Given the description of an element on the screen output the (x, y) to click on. 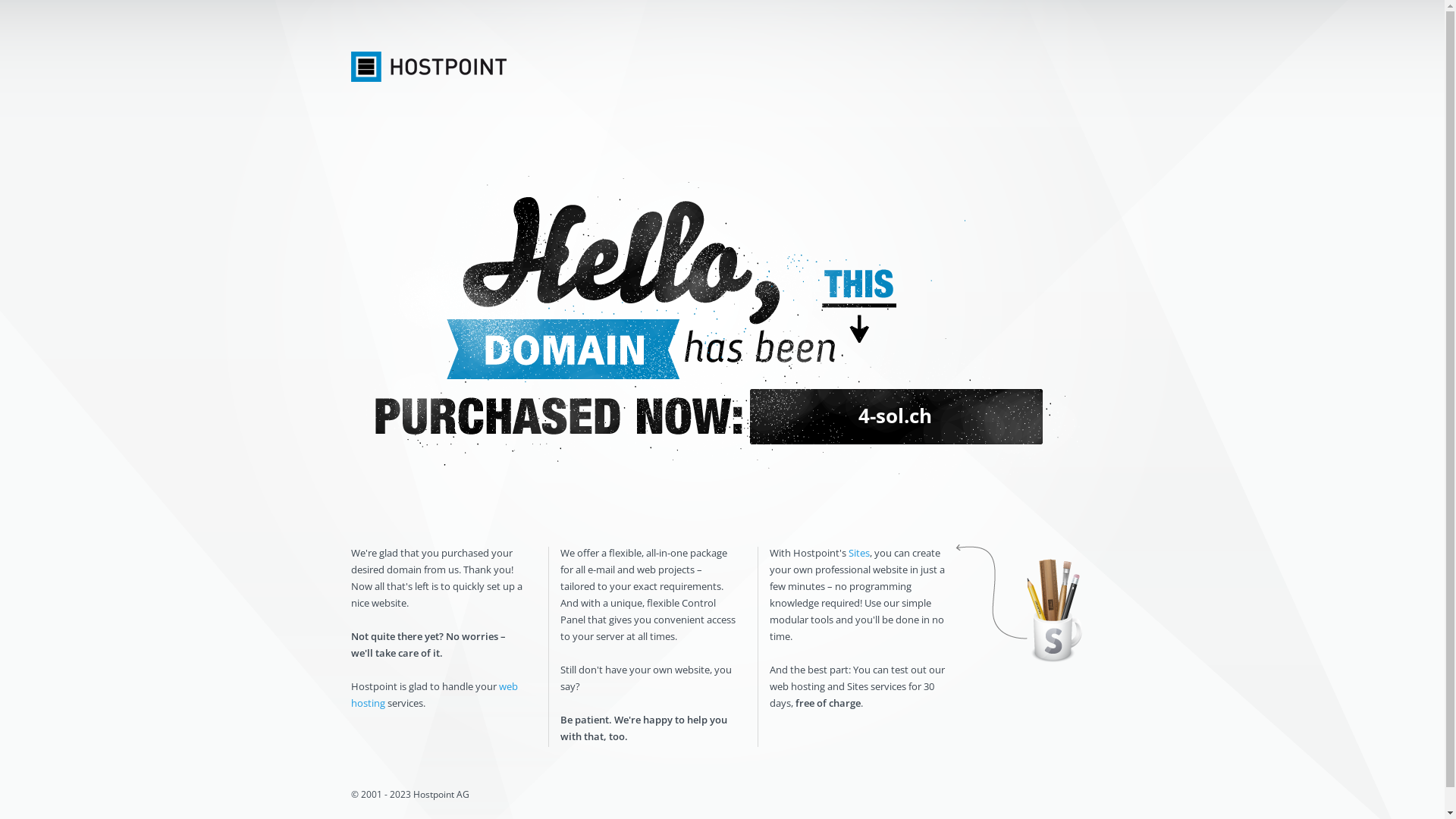
Sites Element type: text (858, 552)
web hosting Element type: text (433, 694)
